Given the description of an element on the screen output the (x, y) to click on. 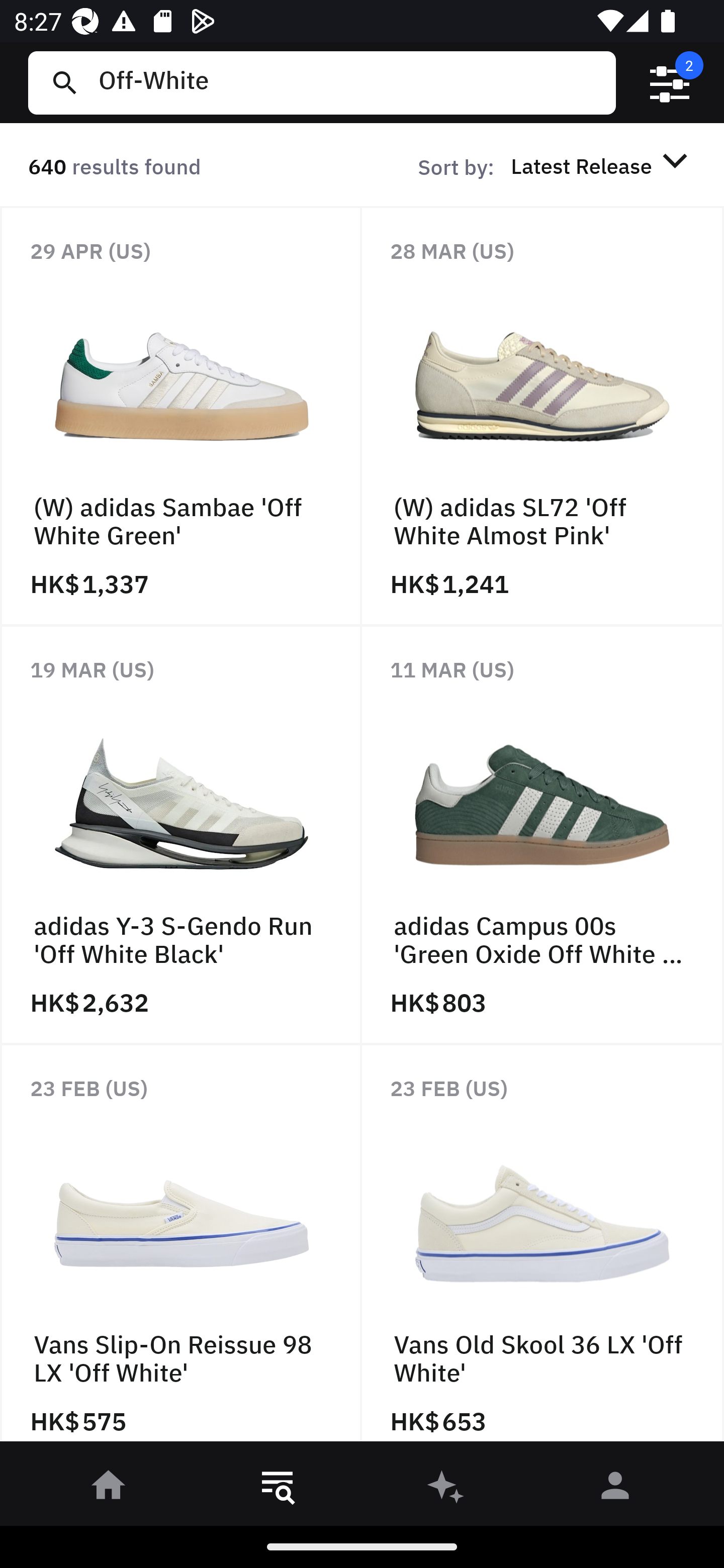
Off-White (349, 82)
 (669, 82)
Latest Release  (602, 165)
󰋜 (108, 1488)
󱎸 (277, 1488)
󰫢 (446, 1488)
󰀄 (615, 1488)
